Given the description of an element on the screen output the (x, y) to click on. 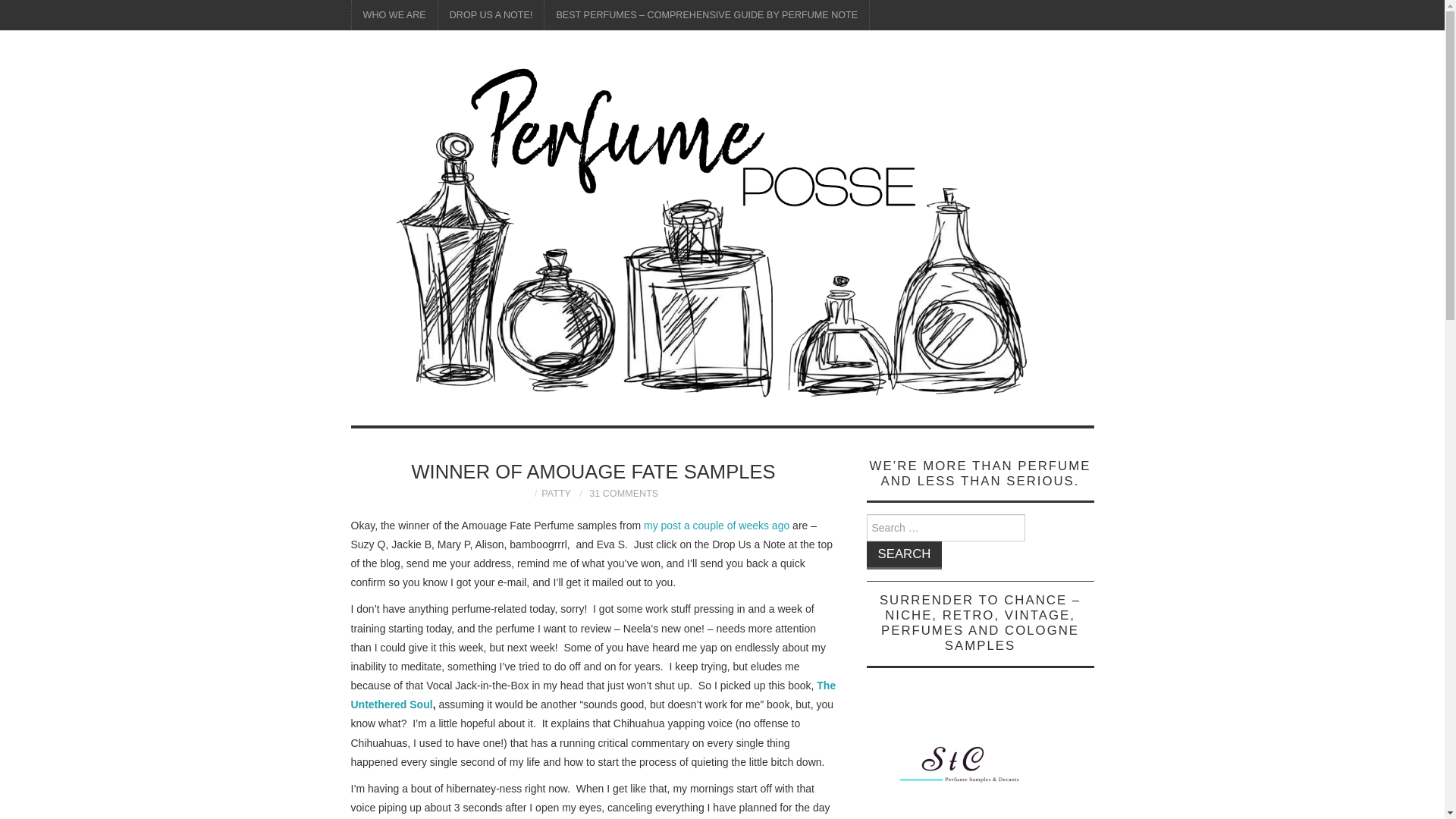
PATTY (555, 493)
31 COMMENTS (623, 493)
Amouage Fate Perfume Review (716, 525)
WHO WE ARE (395, 15)
my post a couple of weeks ago (716, 525)
Perfume Posse (721, 234)
DROP US A NOTE! (491, 15)
Search (904, 555)
Search (904, 555)
The Untethered Soul book (592, 694)
